Given the description of an element on the screen output the (x, y) to click on. 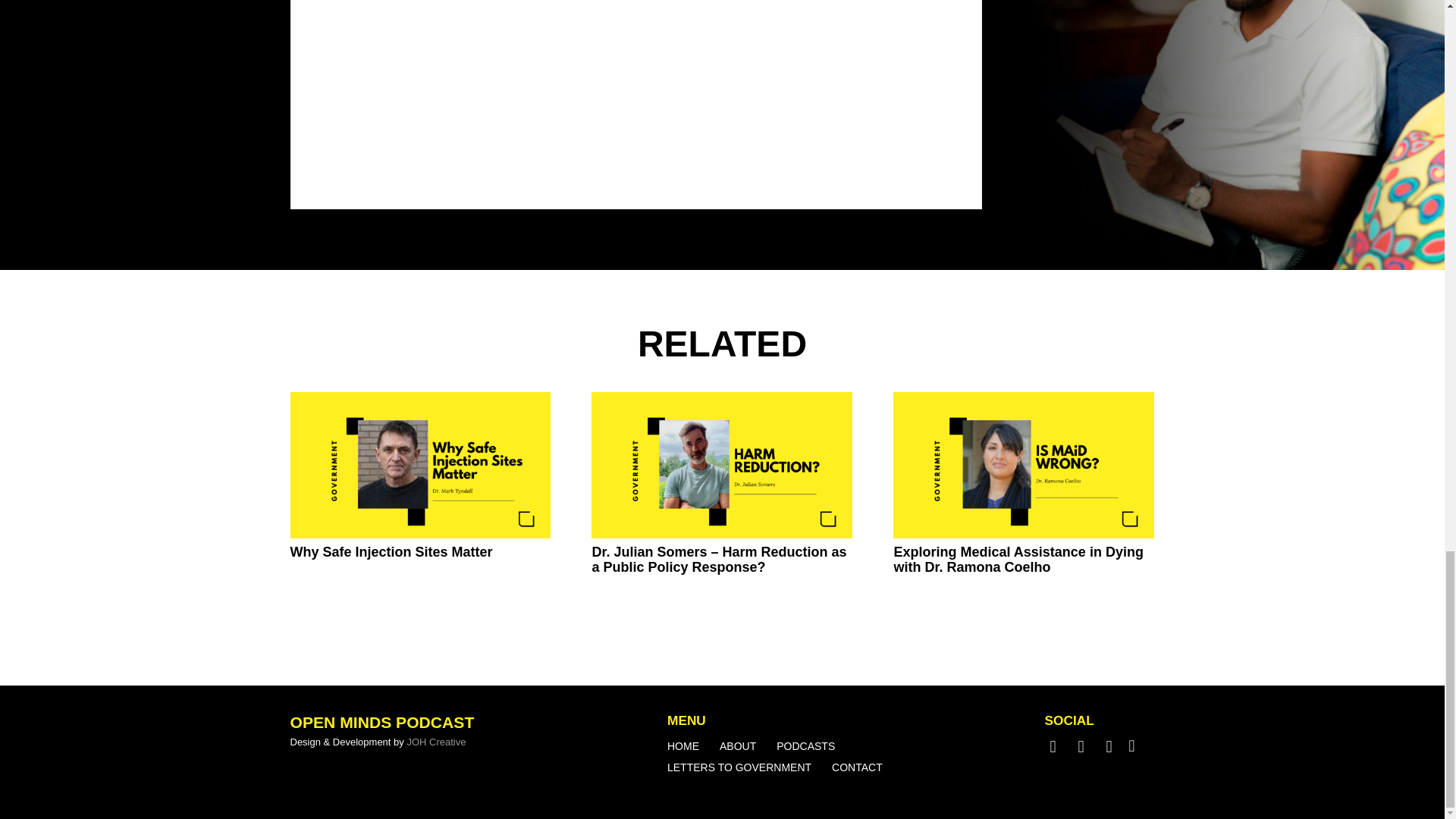
LETTERS TO GOVERNMENT (738, 767)
JOH Creative (435, 741)
CONTACT (856, 767)
HOME (682, 746)
ABOUT (737, 746)
PODCASTS (805, 746)
Why Safe Injection Sites Matter (390, 551)
Exploring Medical Assistance in Dying with Dr. Ramona Coelho (1017, 559)
